Given the description of an element on the screen output the (x, y) to click on. 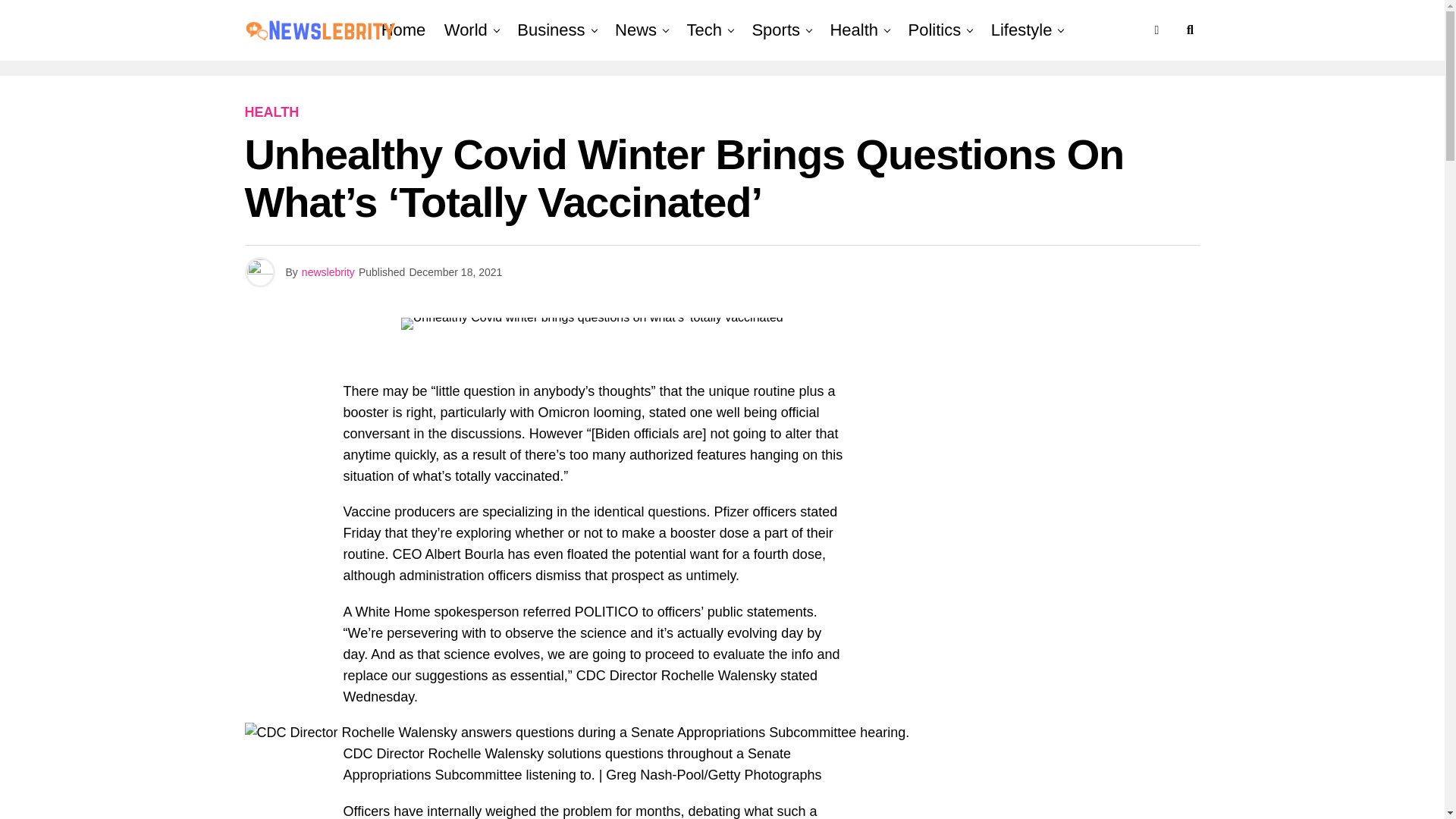
Business (550, 30)
News (635, 30)
Sports (776, 30)
World (465, 30)
Health (853, 30)
Posts by newslebrity (328, 272)
Home (403, 30)
